Given the description of an element on the screen output the (x, y) to click on. 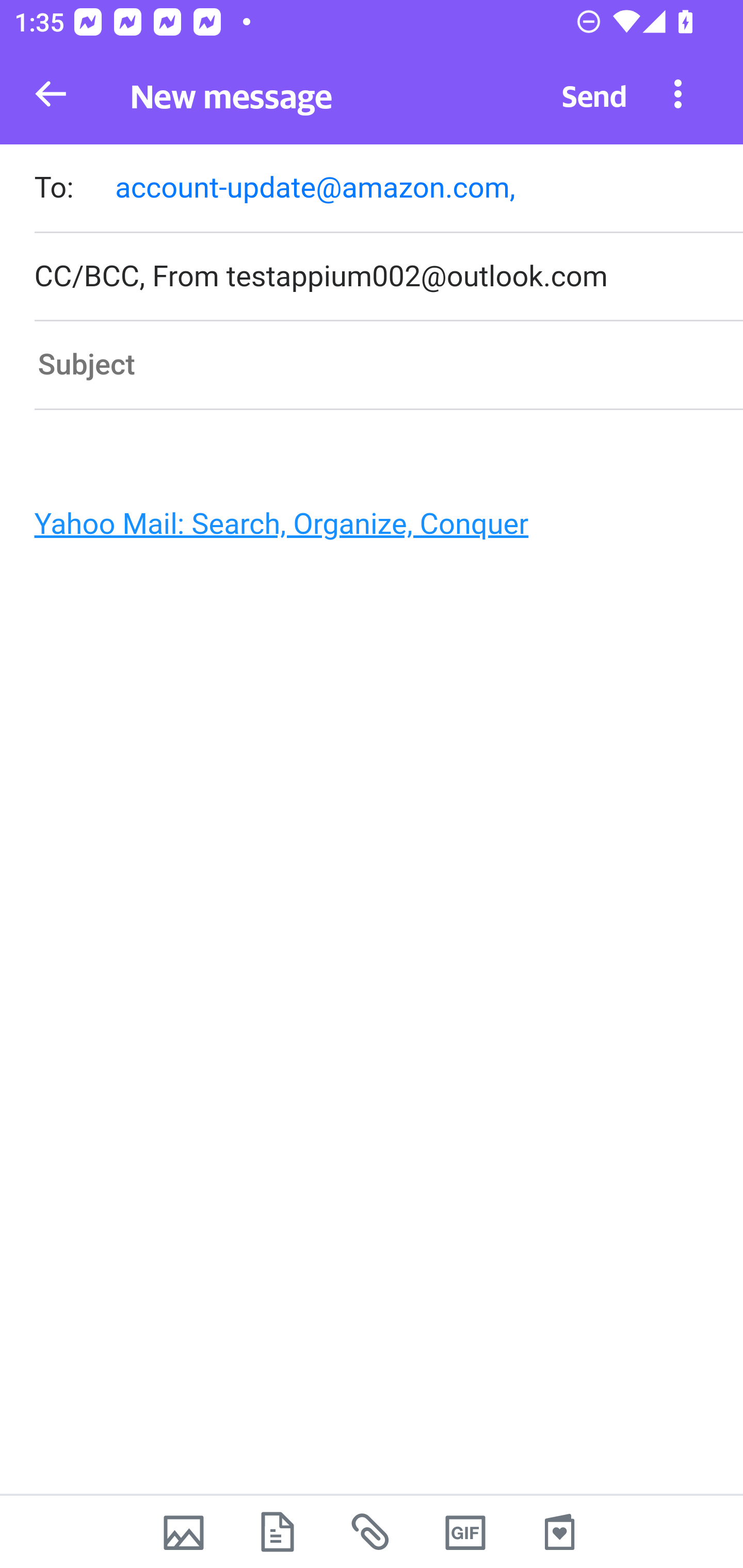
Back (50, 93)
Send (594, 93)
More options (677, 93)
To: account-update@amazon.com, (387, 189)
account-update@amazon.com, (314, 187)
CC/BCC, From testappium002@outlook.com (387, 276)


Yahoo Mail: Search, Organize, Conquer (363, 528)
Camera photos (183, 1531)
Device files (277, 1531)
Recent attachments from mail (371, 1531)
GIFs (465, 1531)
Stationery (559, 1531)
